Given the description of an element on the screen output the (x, y) to click on. 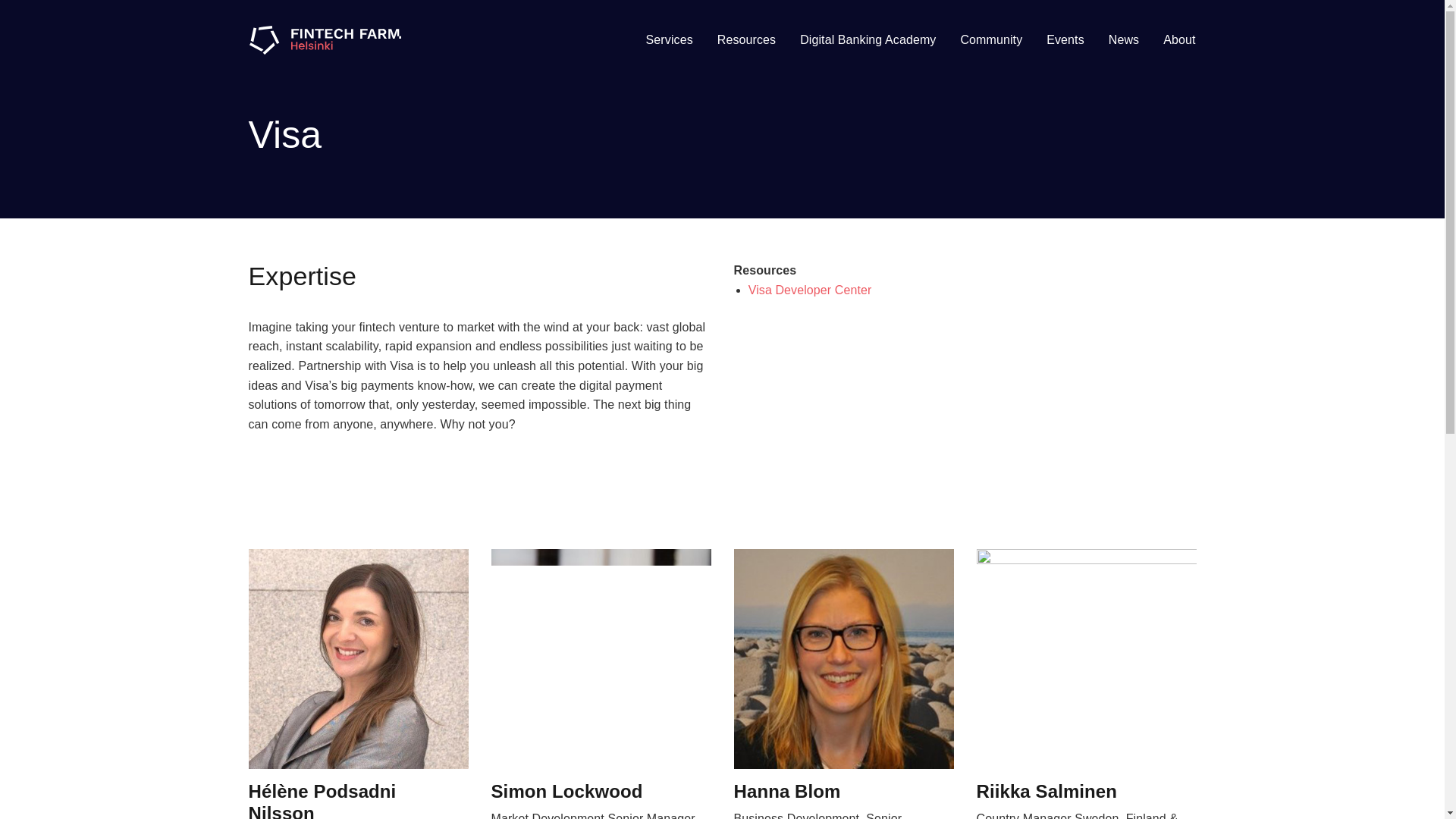
Events (1064, 40)
Services (668, 40)
Visa Developer Center (810, 289)
Resources (745, 40)
About (1179, 40)
Digital Banking Academy (867, 40)
Community (990, 40)
News (1123, 40)
